Given the description of an element on the screen output the (x, y) to click on. 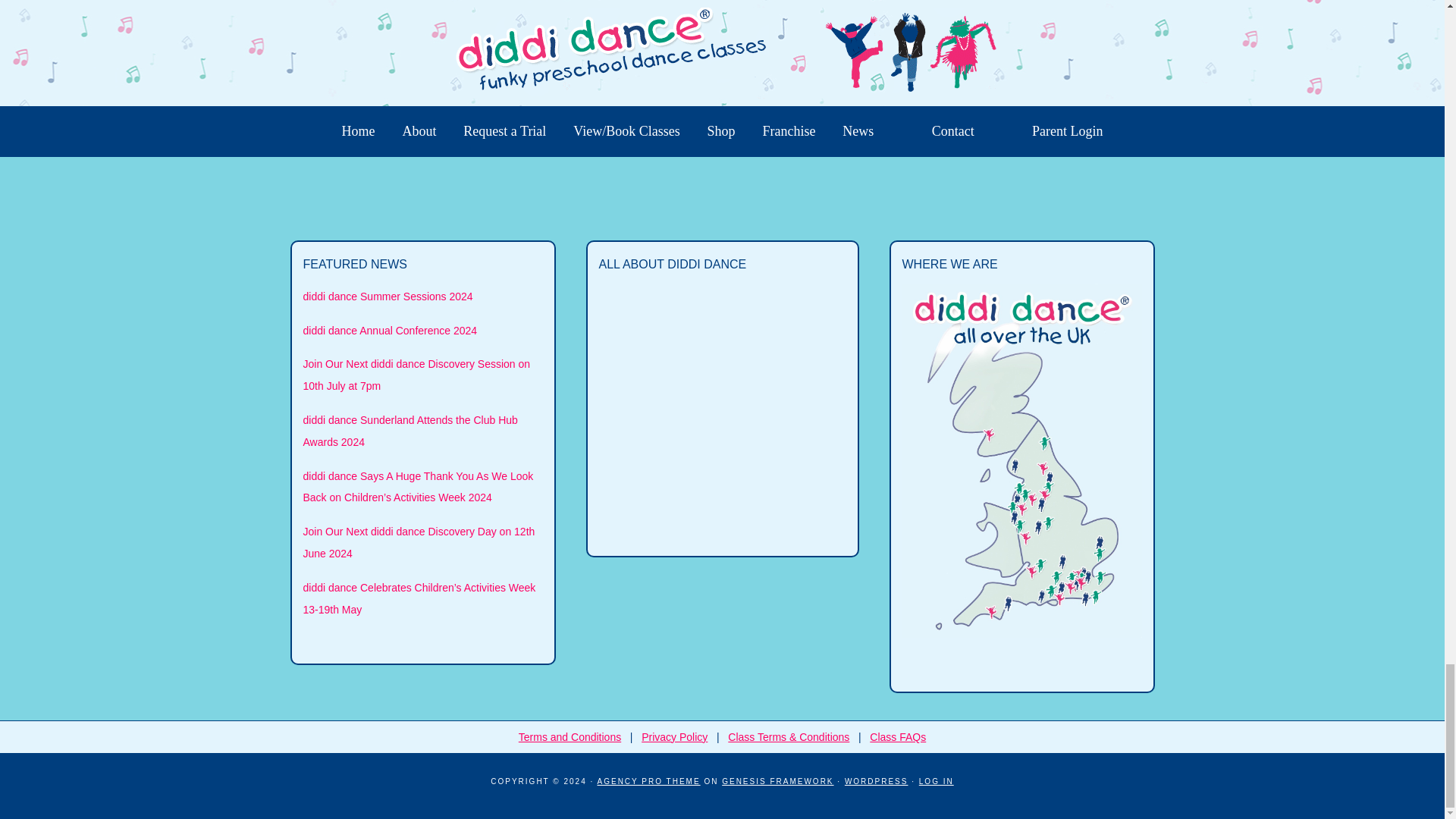
diddi dance Annual Conference 2024 (389, 330)
diddi dance Summer Sessions 2024 (387, 296)
